Given the description of an element on the screen output the (x, y) to click on. 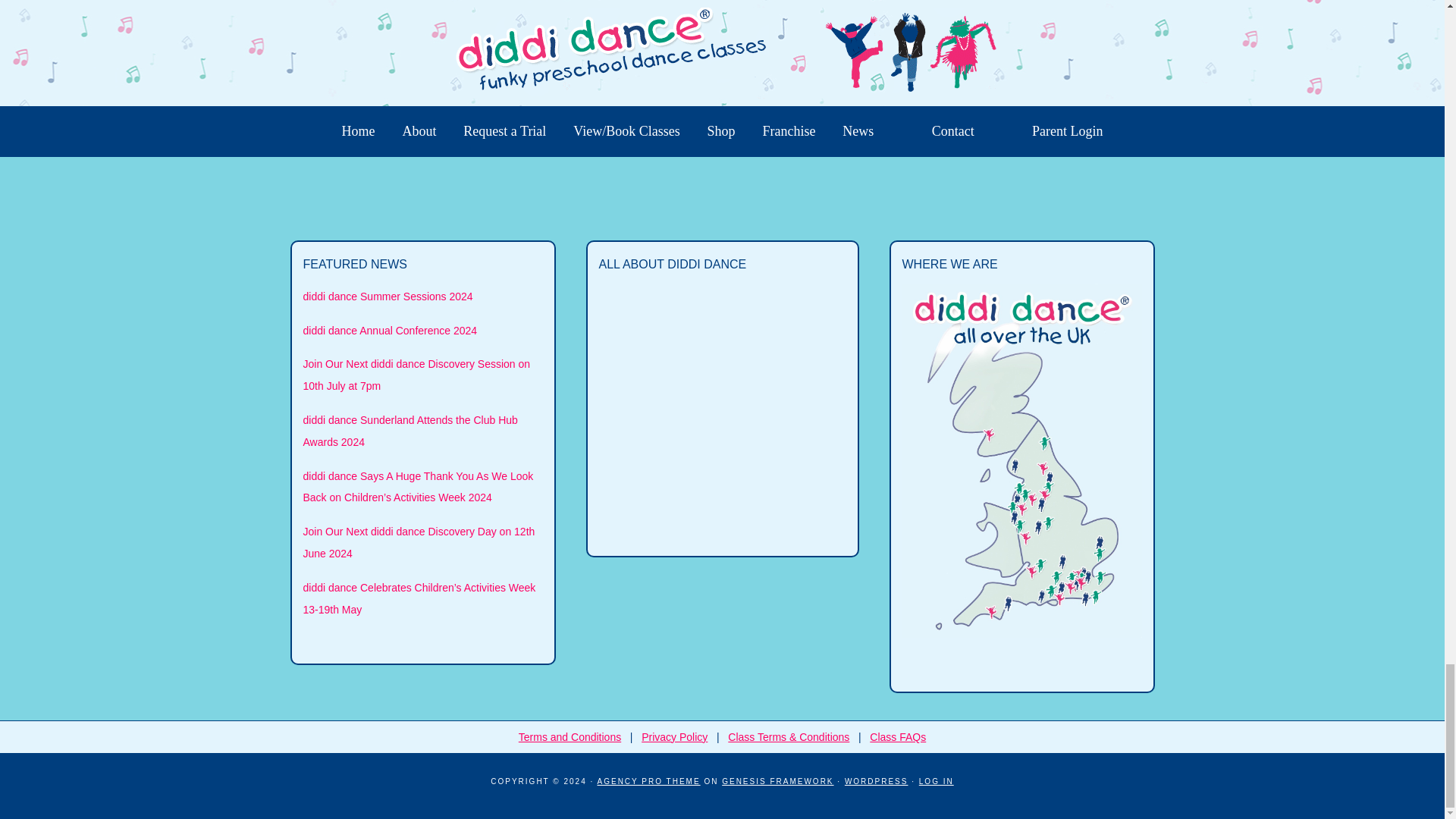
diddi dance Annual Conference 2024 (389, 330)
diddi dance Summer Sessions 2024 (387, 296)
